Given the description of an element on the screen output the (x, y) to click on. 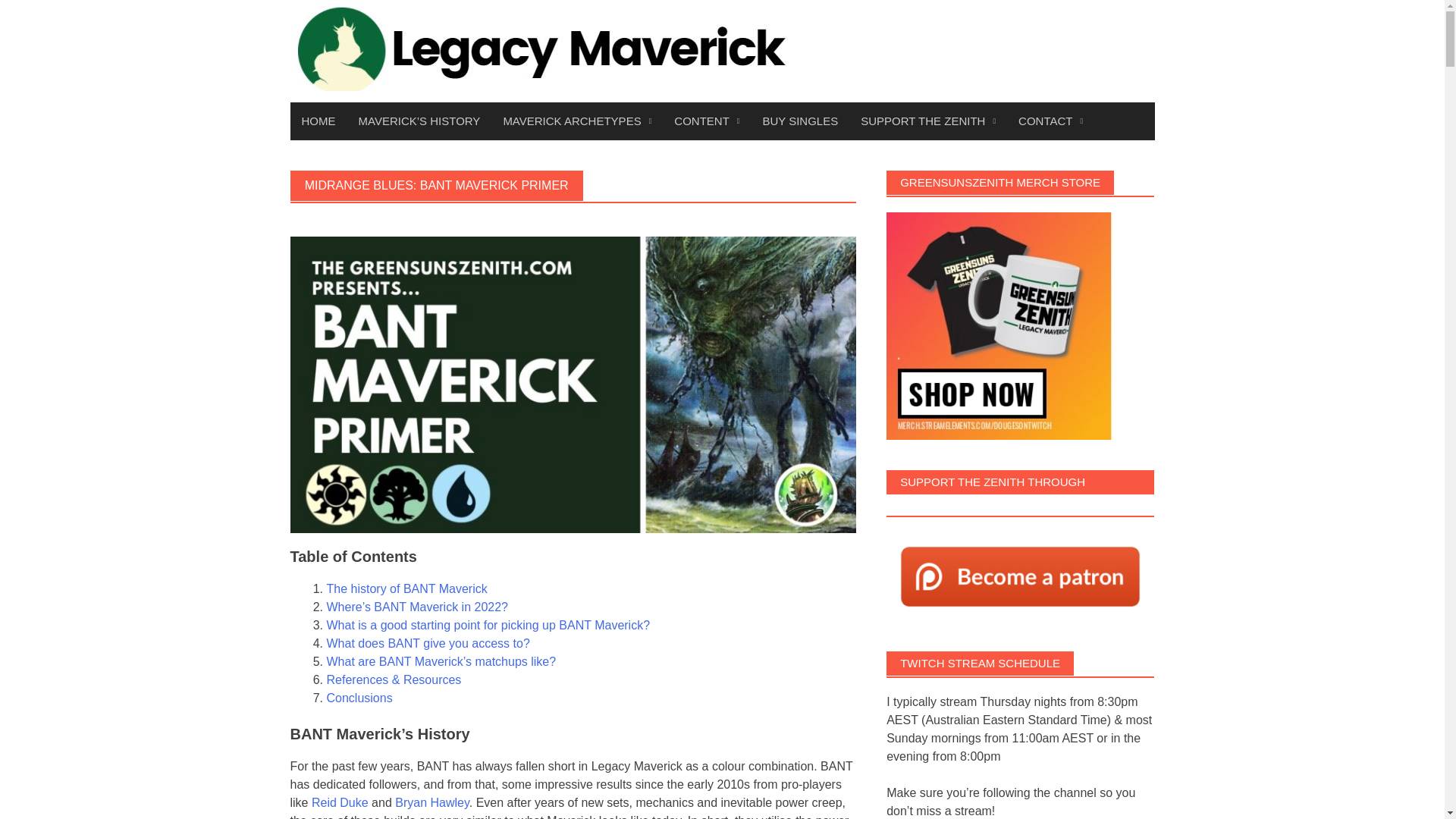
BUY SINGLES (799, 121)
MAVERICK ARCHETYPES (577, 121)
CONTENT (706, 121)
HOME (317, 121)
